Given the description of an element on the screen output the (x, y) to click on. 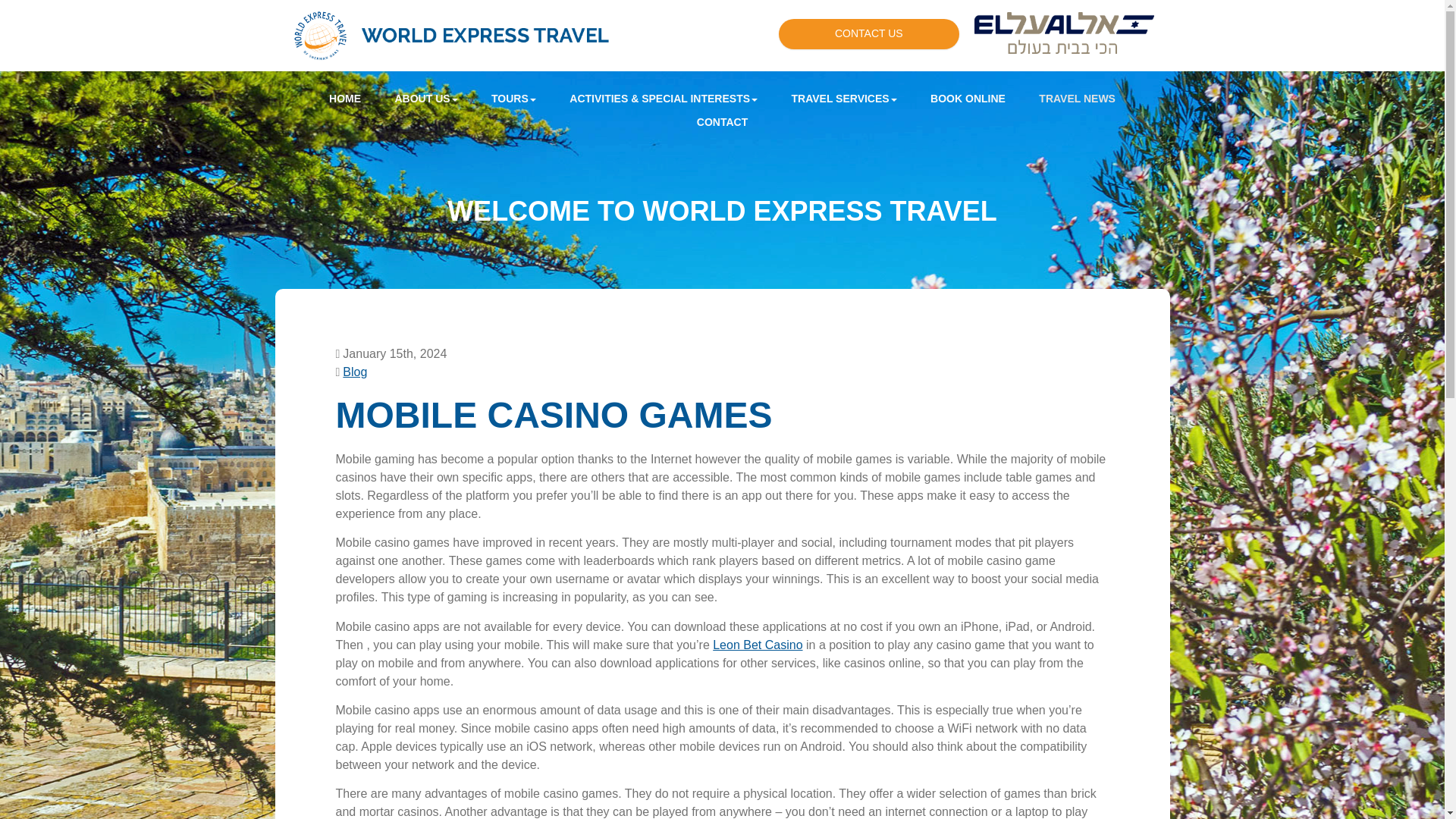
ABOUT US (424, 98)
TRAVEL NEWS (1077, 98)
TRAVEL SERVICES (844, 98)
BOOK ONLINE (967, 98)
CONTACT (721, 122)
CONTACT US (868, 33)
TOURS (513, 98)
HOME (344, 98)
Date Published (390, 353)
